Given the description of an element on the screen output the (x, y) to click on. 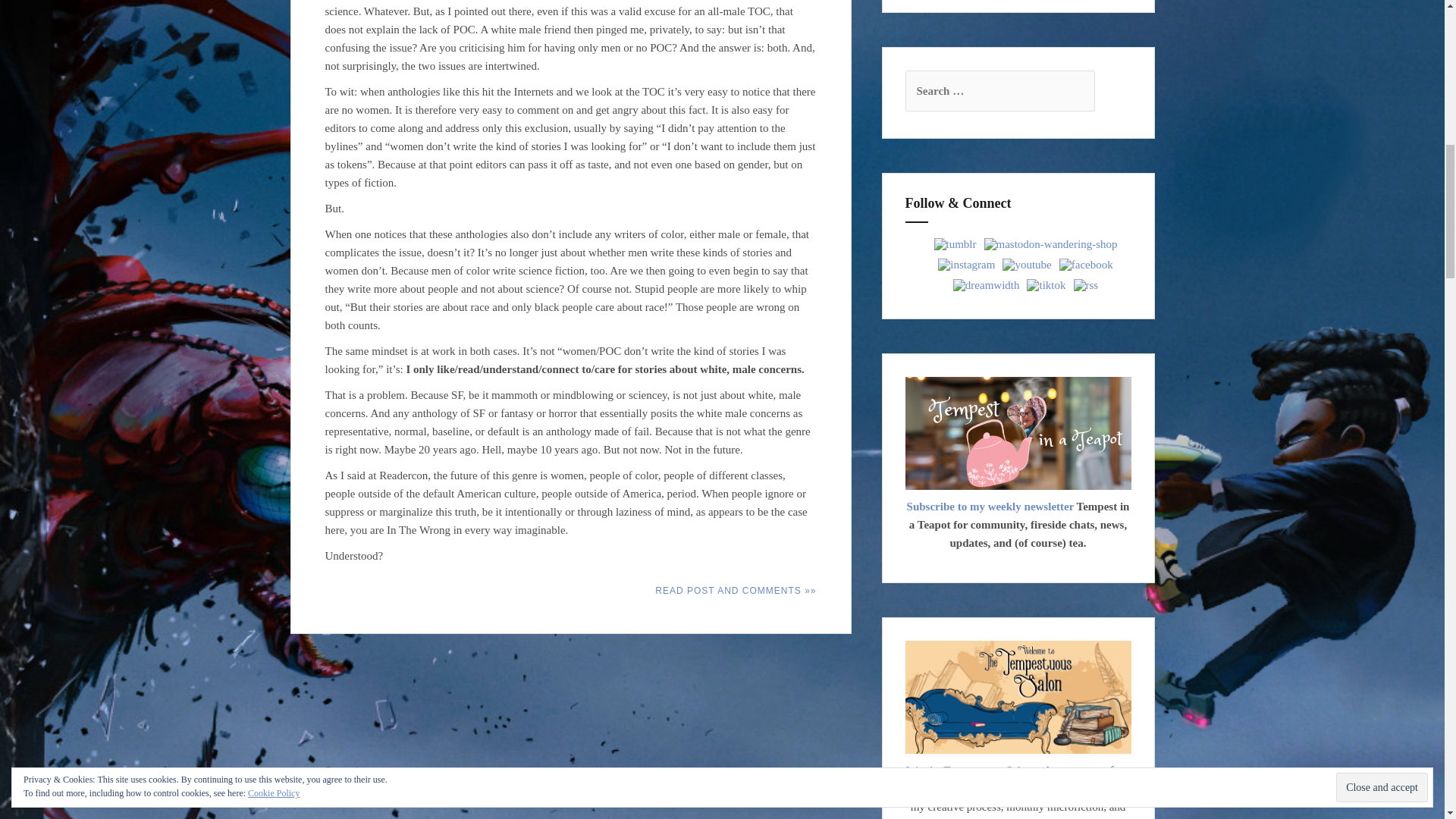
youtube (1027, 264)
rss (1085, 284)
mastodon-wandering-shop (1050, 243)
instagram (966, 263)
facebook (1085, 263)
dreamwidth (986, 284)
tumblr (954, 243)
dreamwidth (986, 285)
instagram (965, 264)
tiktok (1045, 285)
youtube (1026, 263)
tumblr (955, 244)
tiktok (1045, 284)
facebook (1086, 264)
mastodon-wandering-shop (1051, 244)
